Given the description of an element on the screen output the (x, y) to click on. 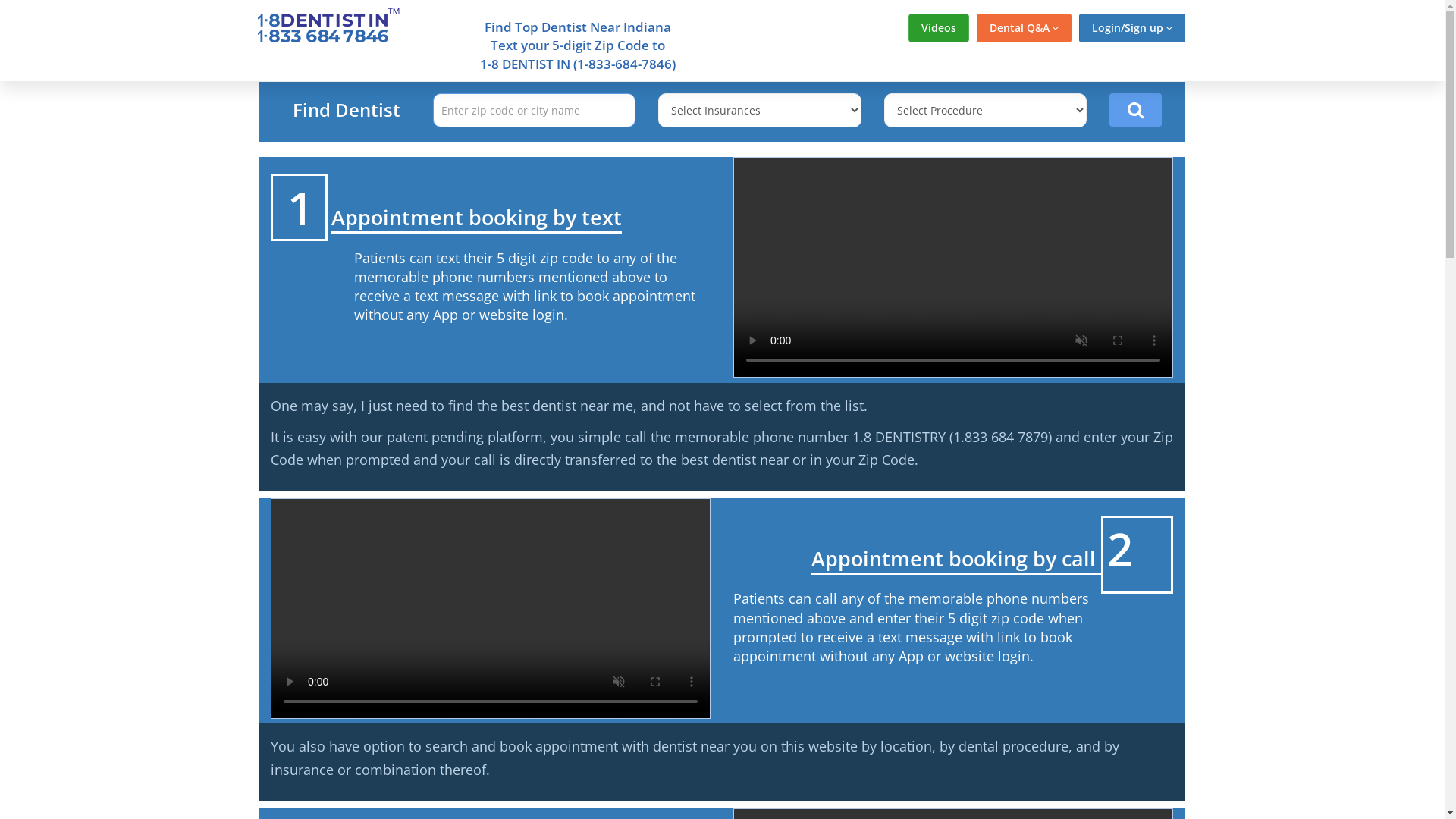
Dental Q&A Element type: text (1023, 27)
Login/Sign up Element type: text (1131, 27)
Videos Element type: text (938, 27)
Search Element type: hover (1135, 109)
